Given the description of an element on the screen output the (x, y) to click on. 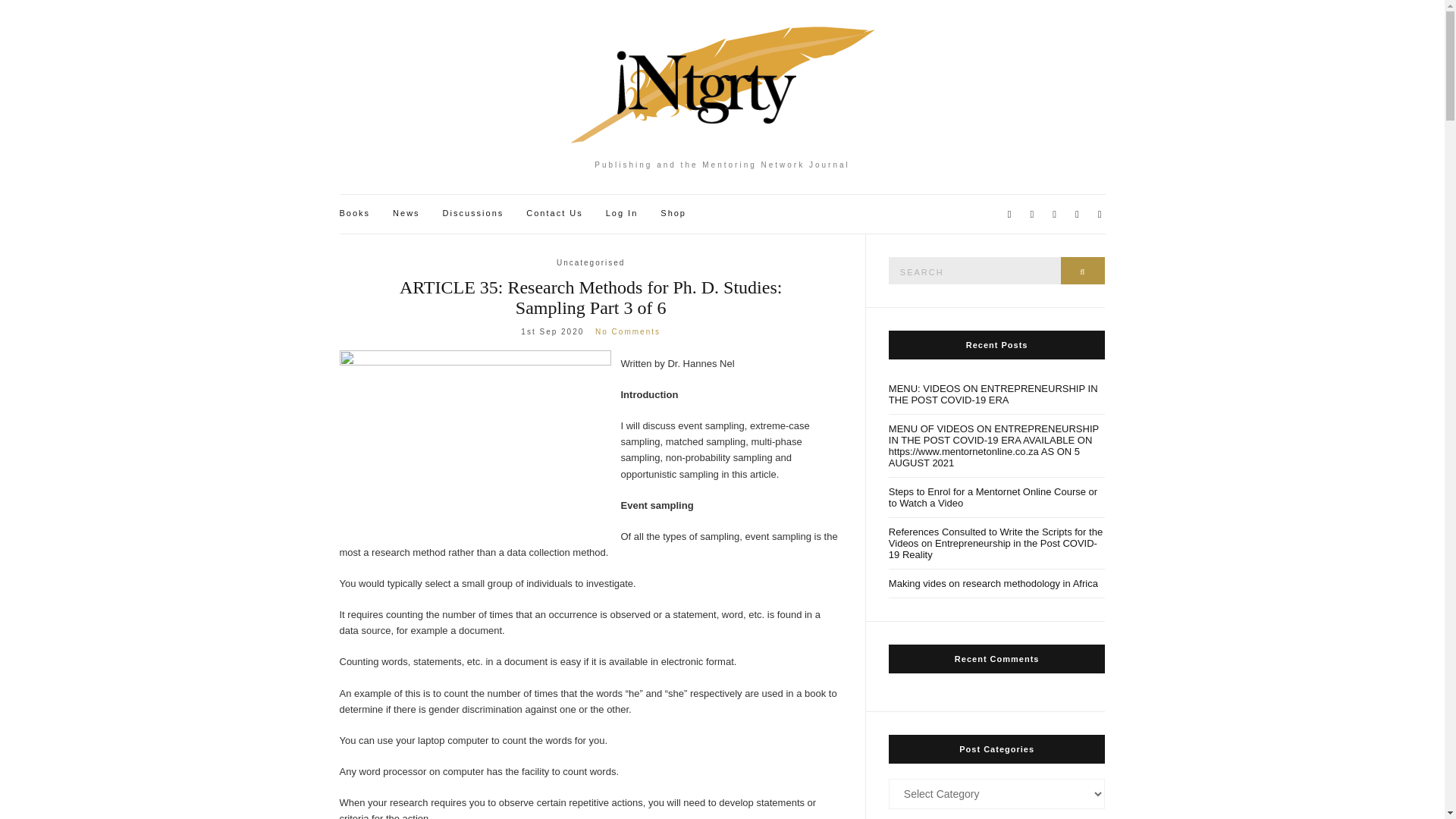
Books (355, 213)
No Comments (628, 331)
Making vides on research methodology in Africa (996, 583)
Contact Us (553, 213)
MENU: VIDEOS ON ENTREPRENEURSHIP IN THE POST COVID-19 ERA (996, 394)
News (406, 213)
Discussions (472, 213)
Shop (673, 213)
Search (1083, 270)
Log In (622, 213)
